Given the description of an element on the screen output the (x, y) to click on. 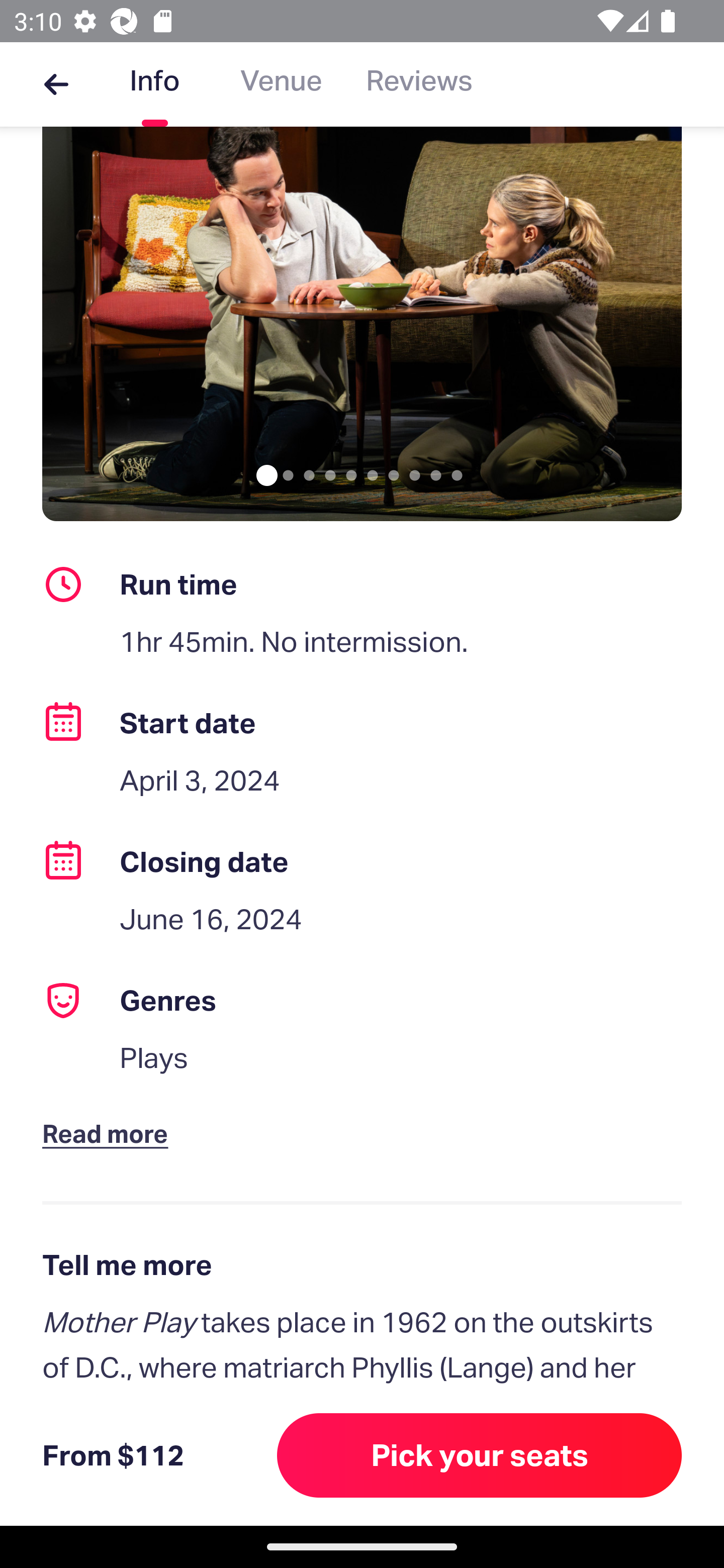
Venue (280, 84)
Reviews (419, 84)
Read more (109, 1116)
Tell me more (361, 1264)
Pick your seats (479, 1454)
